Given the description of an element on the screen output the (x, y) to click on. 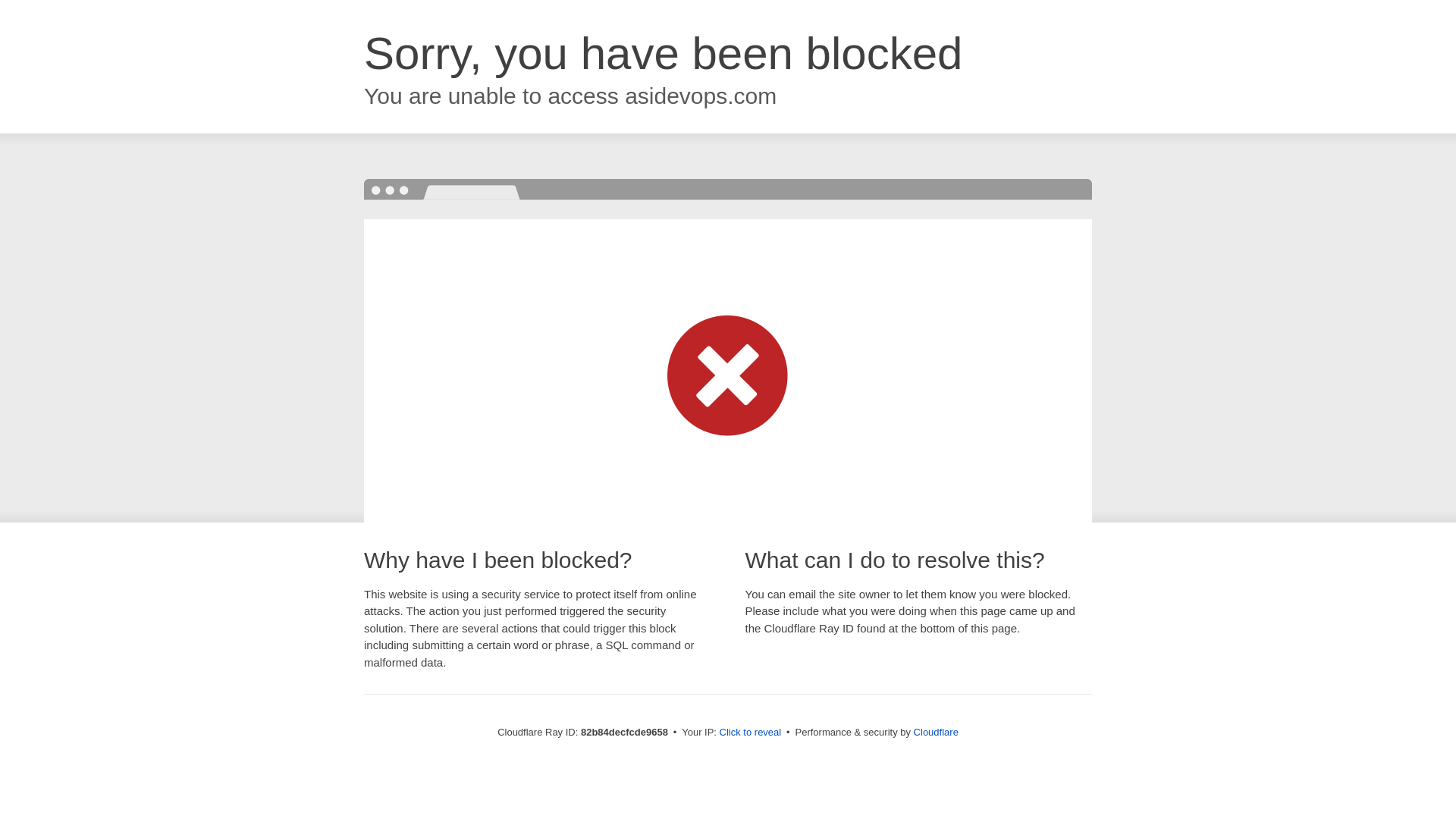
Cloudflare Element type: text (935, 731)
Click to reveal Element type: text (750, 732)
